Given the description of an element on the screen output the (x, y) to click on. 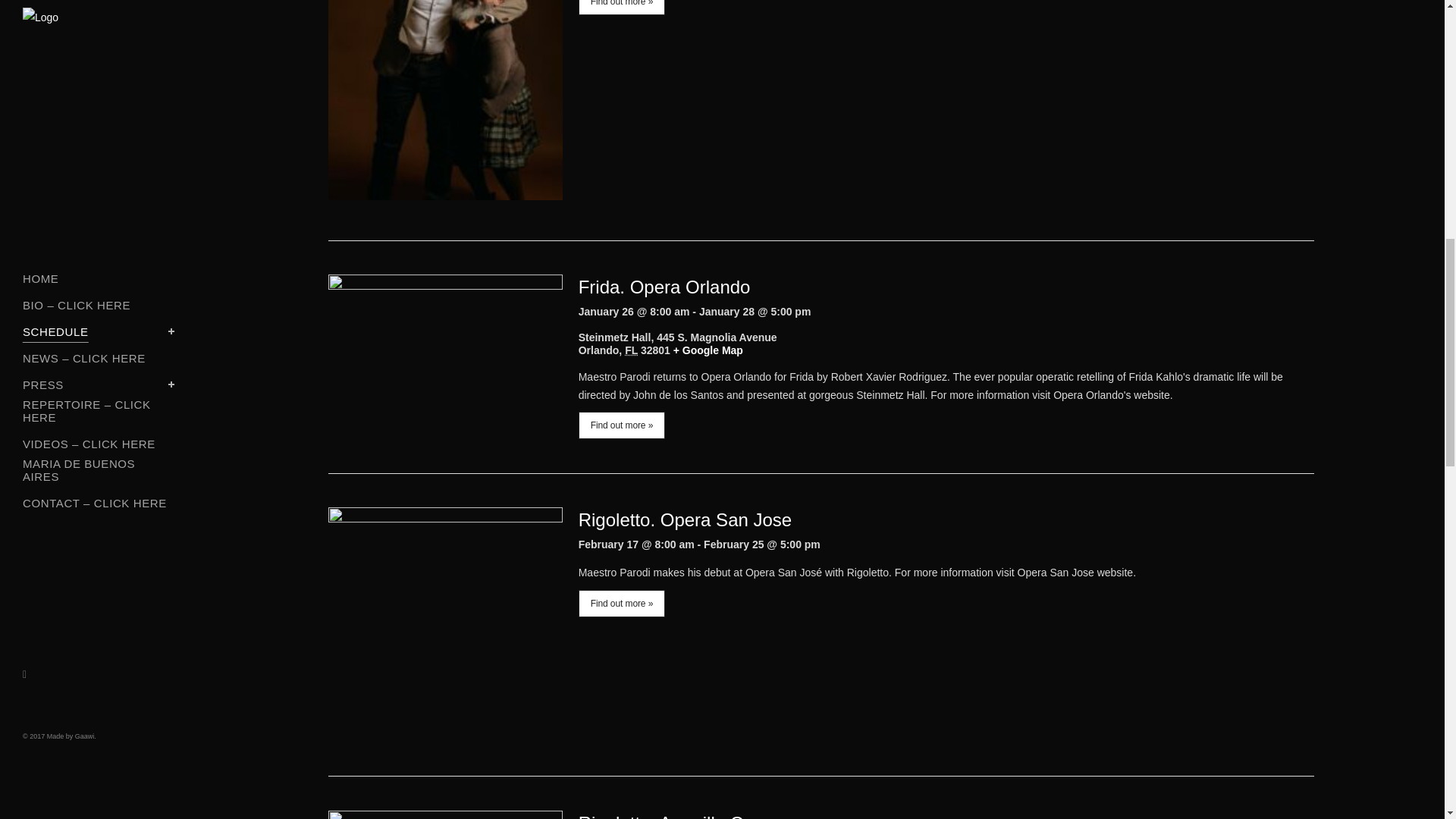
Rigoletto. Opera San Jose (685, 519)
Florida (630, 349)
Rigoletto. Amarillo Opera (679, 816)
Frida. Opera Orlando (664, 286)
Click to view a Google Map (707, 349)
